Given the description of an element on the screen output the (x, y) to click on. 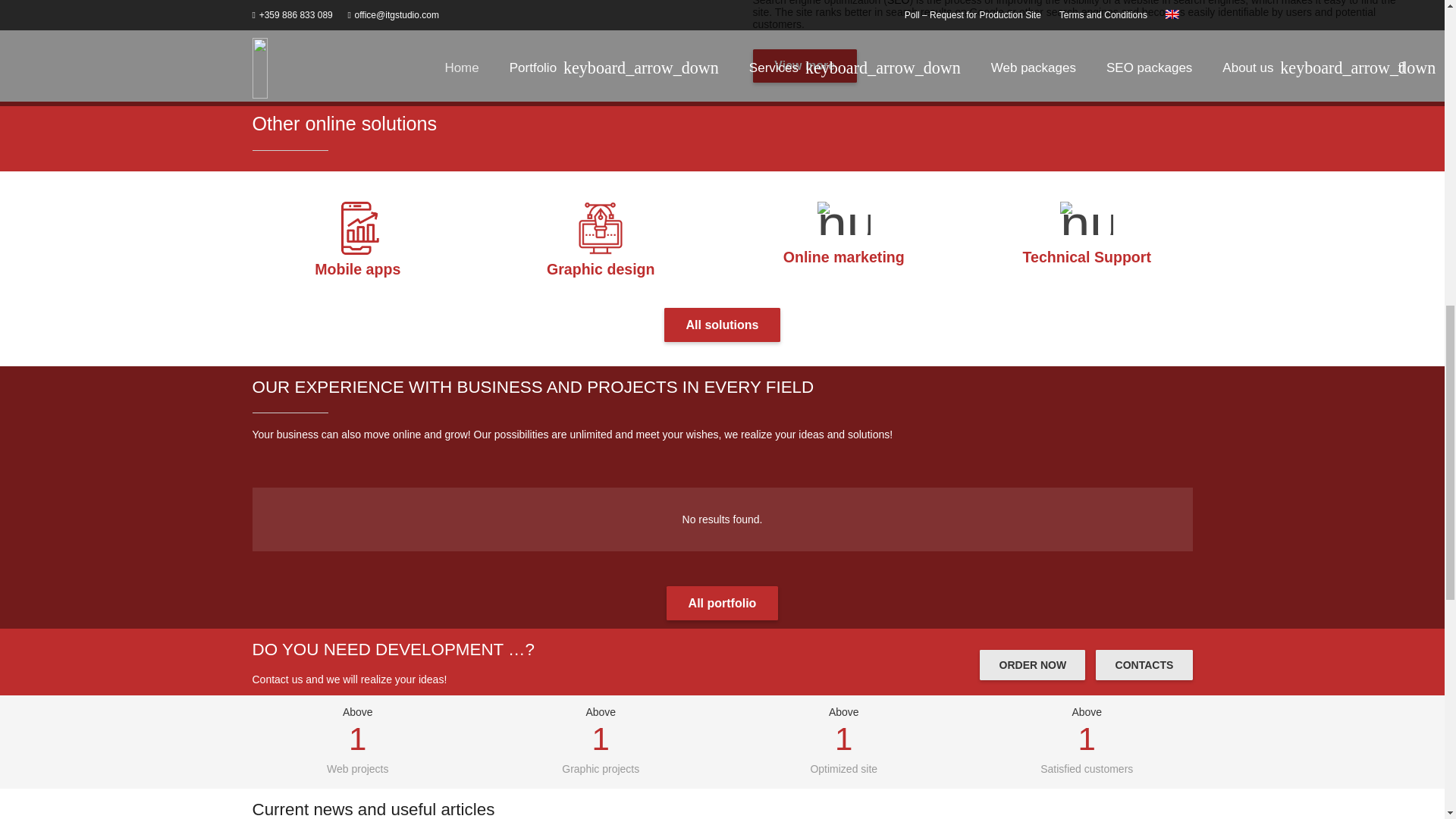
View more (804, 66)
SEO packages (898, 2)
All solutions (721, 324)
All portfolio (721, 602)
SEO (898, 2)
